Given the description of an element on the screen output the (x, y) to click on. 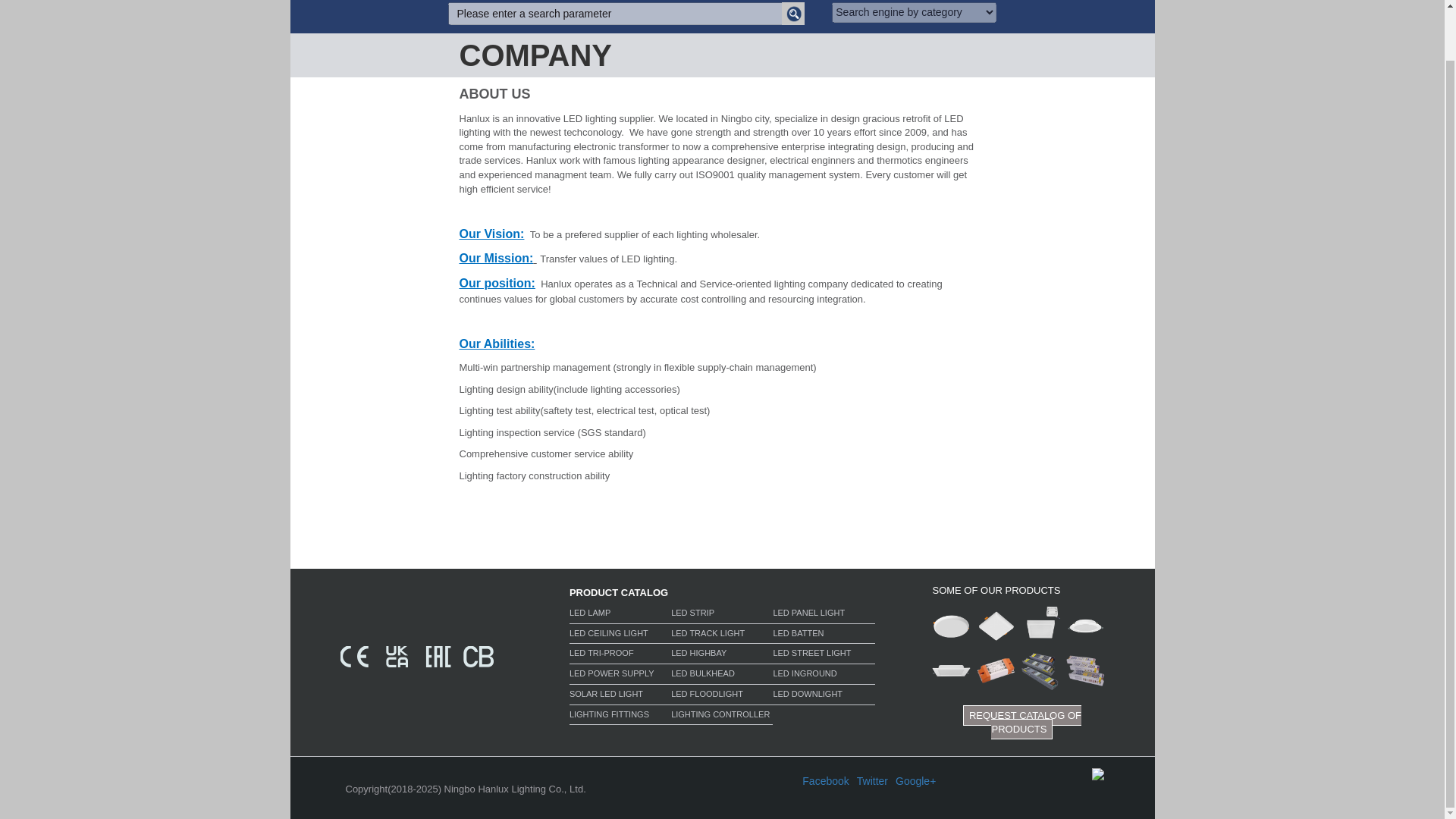
LIGHTING CONTROLLER (722, 716)
LED BATTEN (824, 635)
LED LAMP (620, 615)
SOLAR LED LIGHT (620, 696)
LED BULKHEAD (722, 675)
LED FLOODLIGHT (722, 696)
LED TRACK LIGHT (722, 635)
Facebook (824, 781)
LED PANEL LIGHT (824, 615)
LED STREET LIGHT (824, 655)
